Given the description of an element on the screen output the (x, y) to click on. 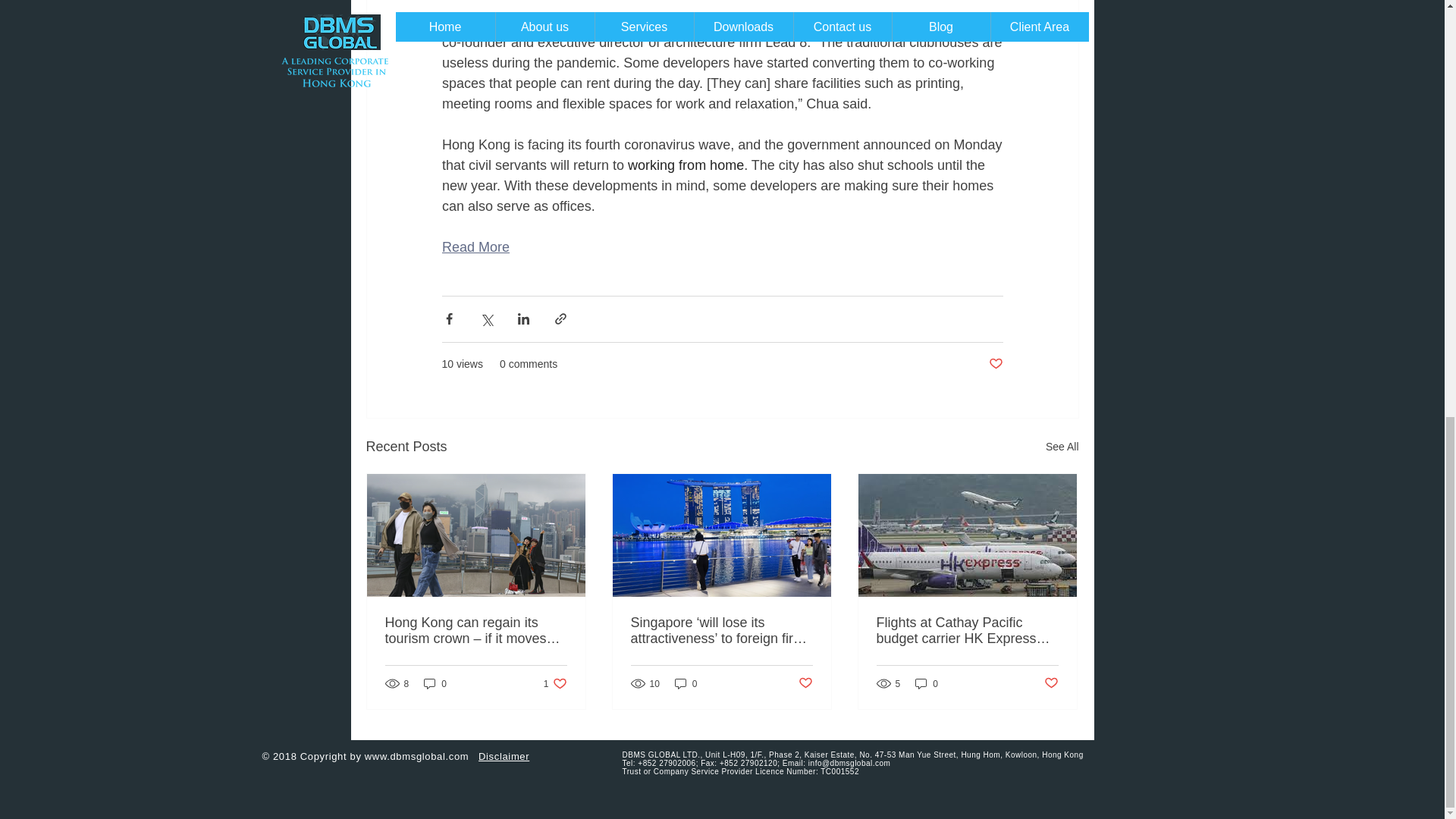
working from home (555, 683)
Post not marked as liked (685, 165)
Post not marked as liked (1050, 683)
0 (804, 683)
Read More (435, 683)
See All (474, 246)
www.dbmsglobal.com (1061, 446)
Disclaimer (416, 756)
0 (504, 756)
0 (926, 683)
Post not marked as liked (685, 683)
